Given the description of an element on the screen output the (x, y) to click on. 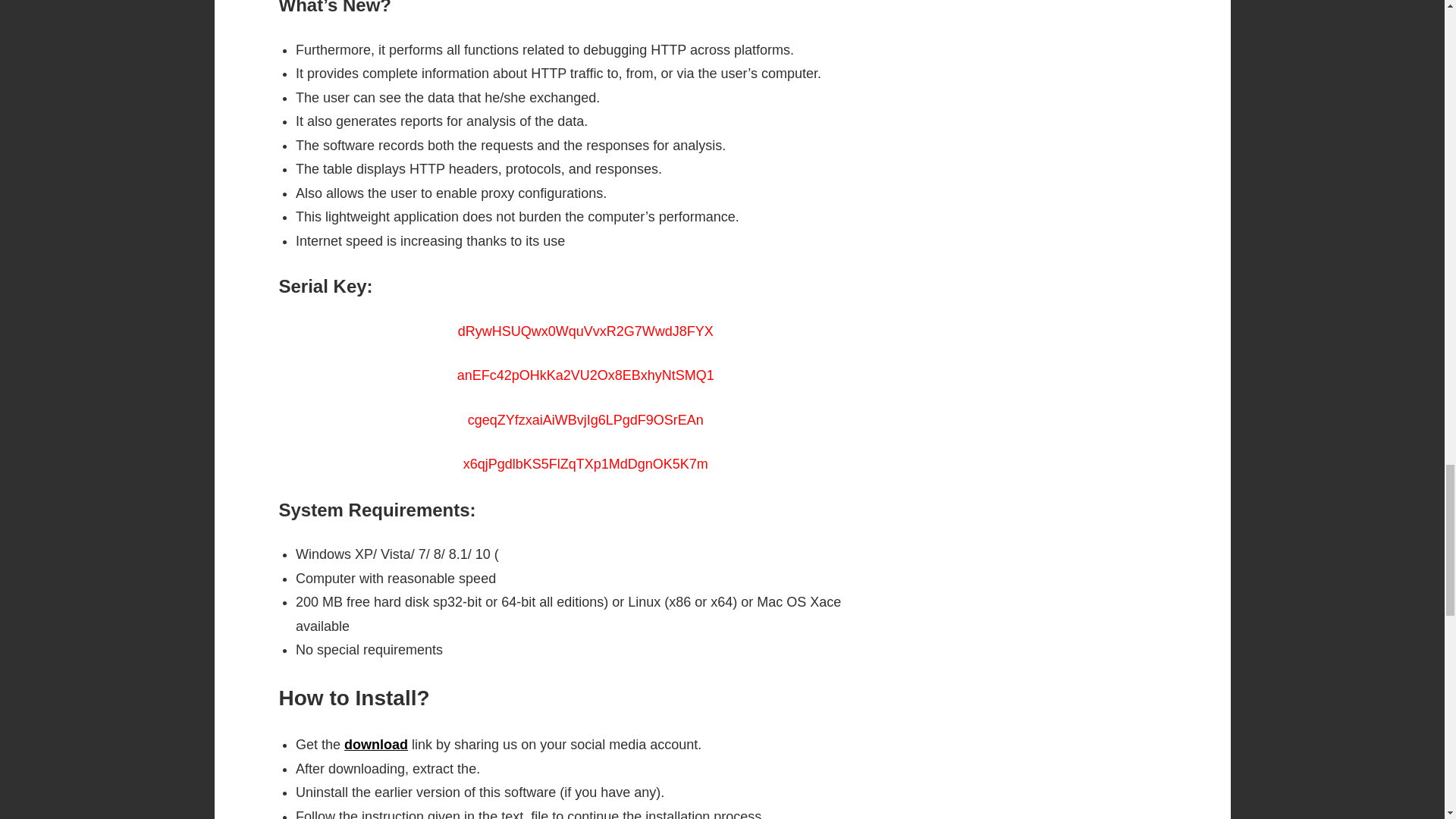
download (375, 744)
